Given the description of an element on the screen output the (x, y) to click on. 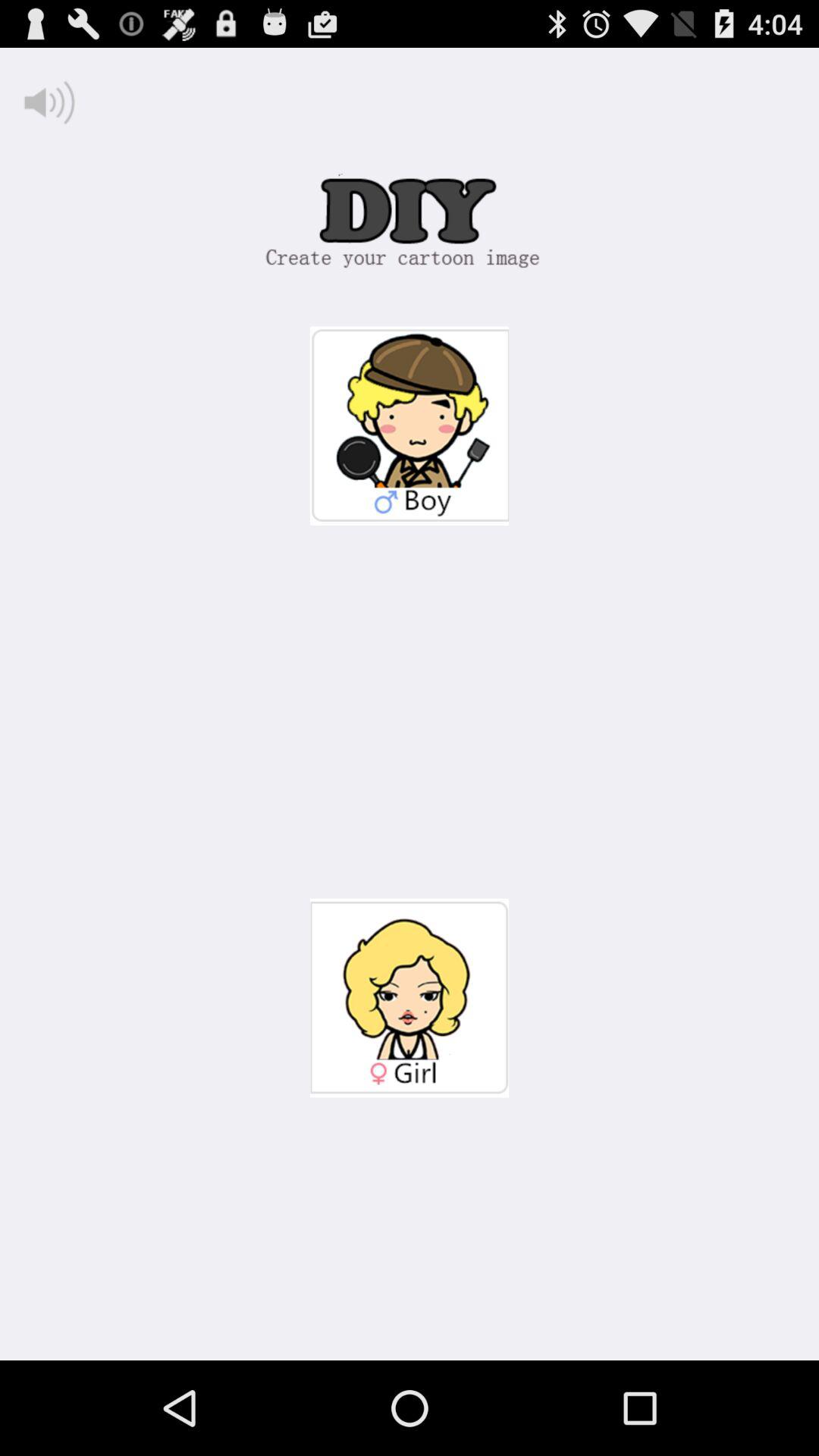
open the item at the top left corner (49, 102)
